Given the description of an element on the screen output the (x, y) to click on. 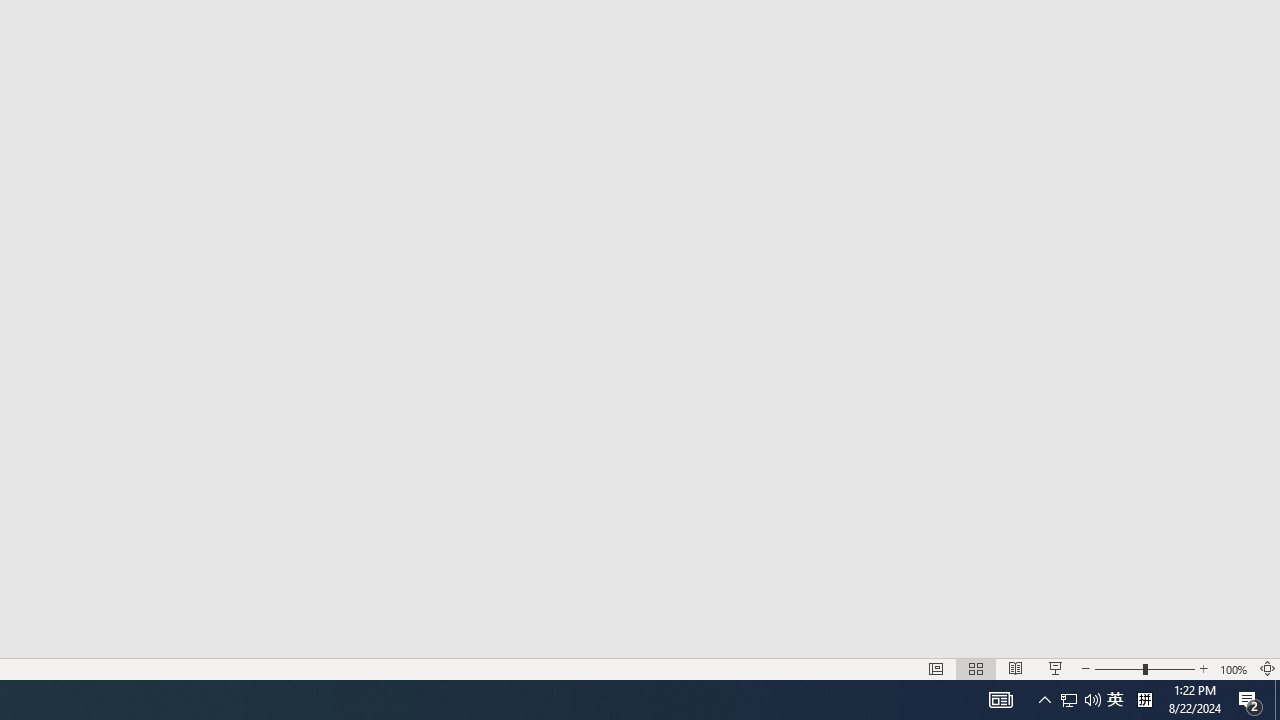
Zoom 100% (1234, 668)
